Given the description of an element on the screen output the (x, y) to click on. 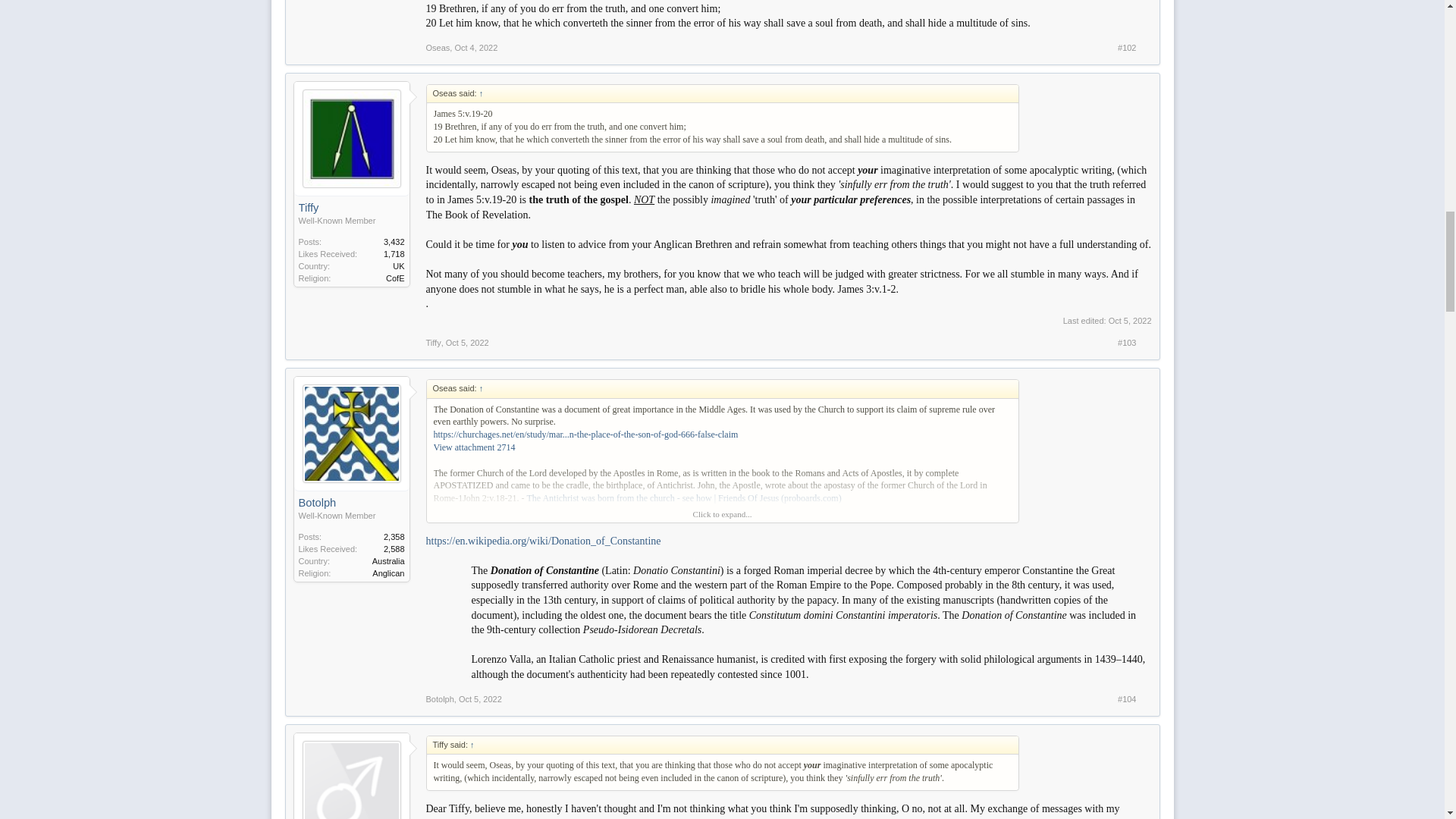
Permalink (475, 47)
Permalink (467, 342)
Permalink (480, 698)
Permalink (1126, 342)
Oct 5, 2022 at 3:35 AM (1129, 320)
Oseas (437, 47)
Oct 4, 2022 (475, 47)
Permalink (1126, 47)
Permalink (1126, 697)
